Given the description of an element on the screen output the (x, y) to click on. 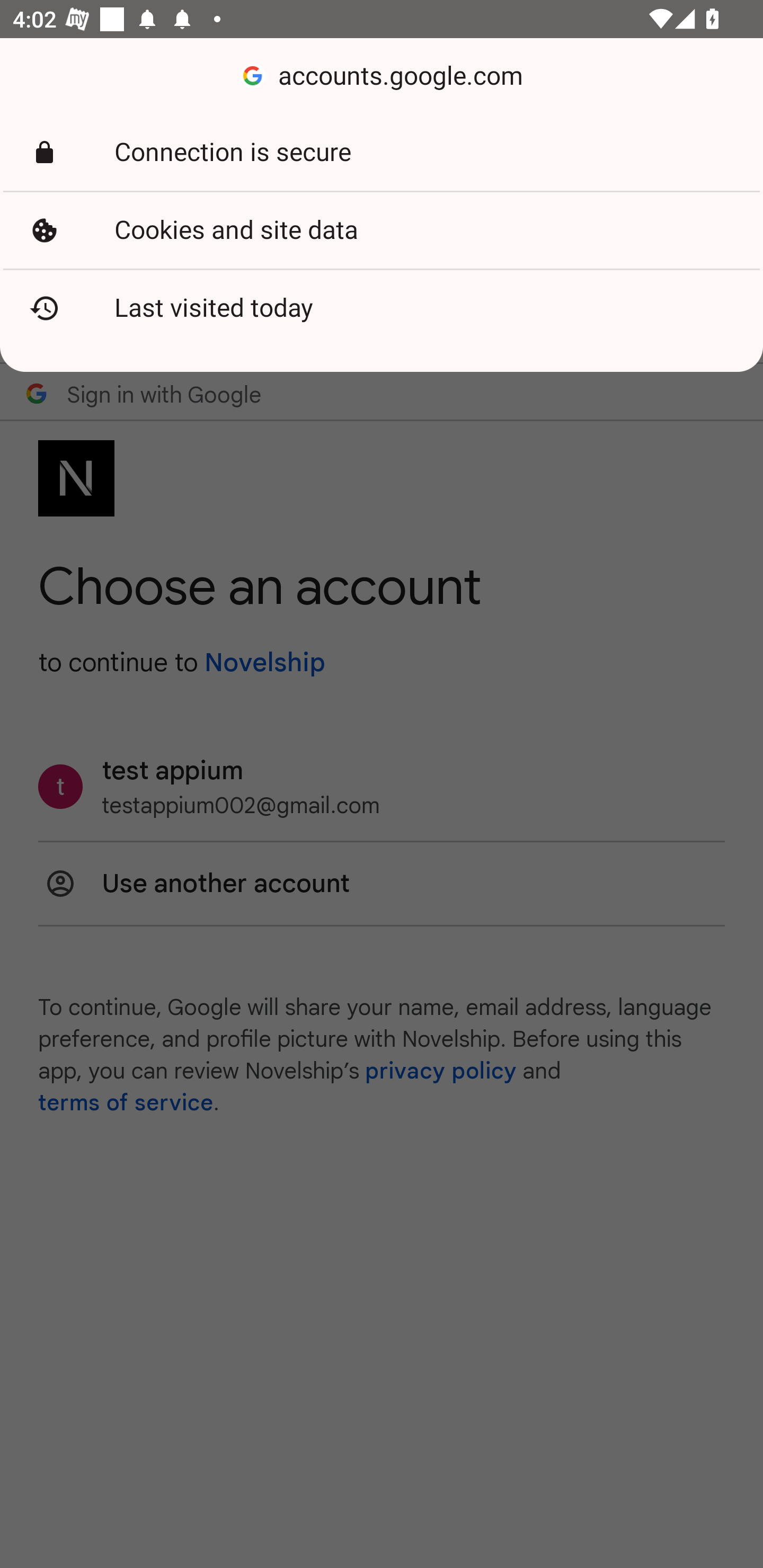
accounts.google.com (381, 75)
Connection is secure (381, 152)
Cookies and site data (381, 230)
Last visited today (381, 307)
